Given the description of an element on the screen output the (x, y) to click on. 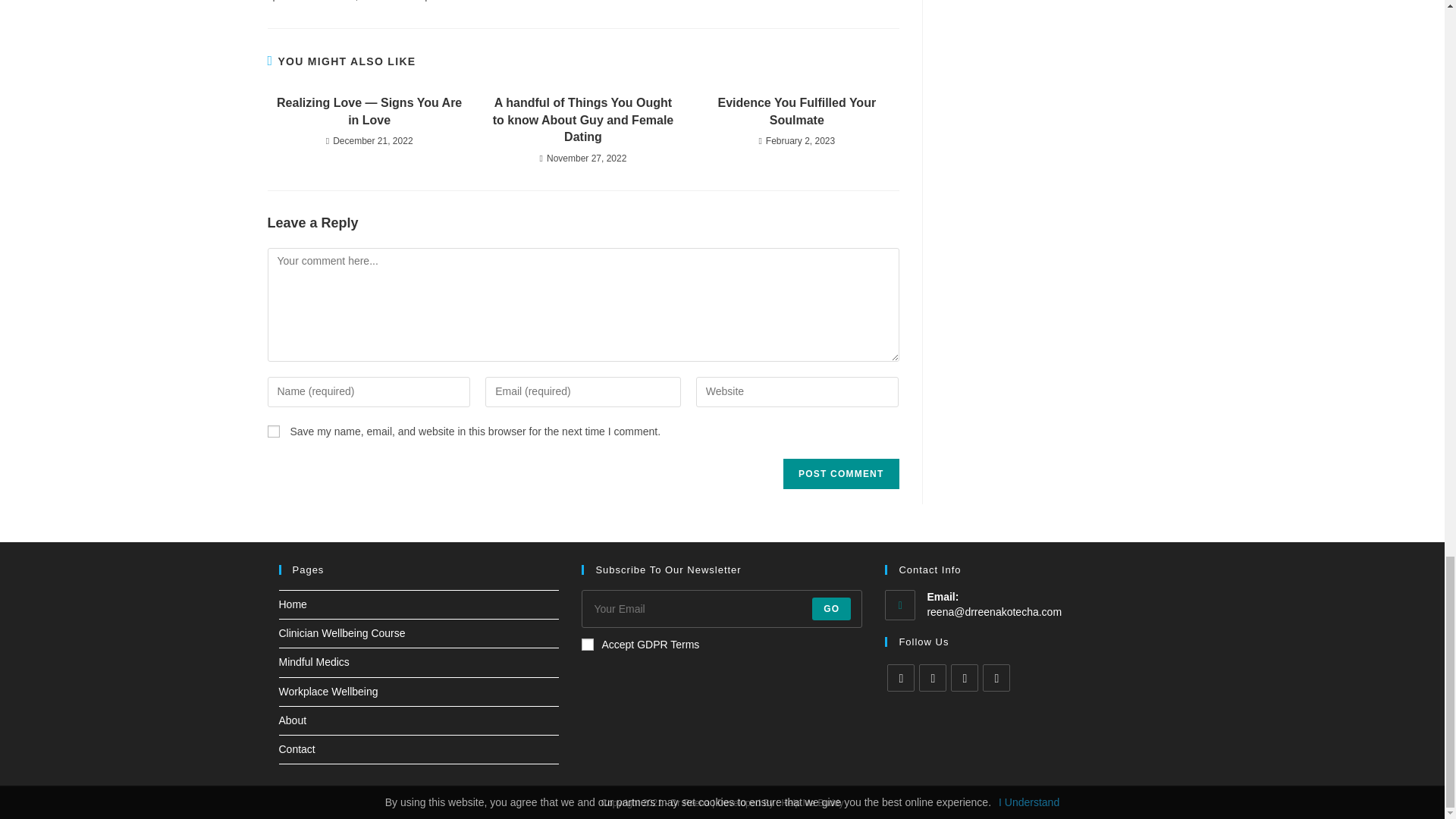
Post Comment (840, 473)
1 (587, 644)
Contact (297, 748)
Clinician Wellbeing Course (342, 633)
Evidence You Fulfilled Your Soulmate (796, 111)
Mindful Medics (314, 662)
yes (272, 431)
About (293, 720)
Post Comment (840, 473)
GO (831, 608)
Home (293, 604)
Workplace Wellbeing (328, 691)
